Given the description of an element on the screen output the (x, y) to click on. 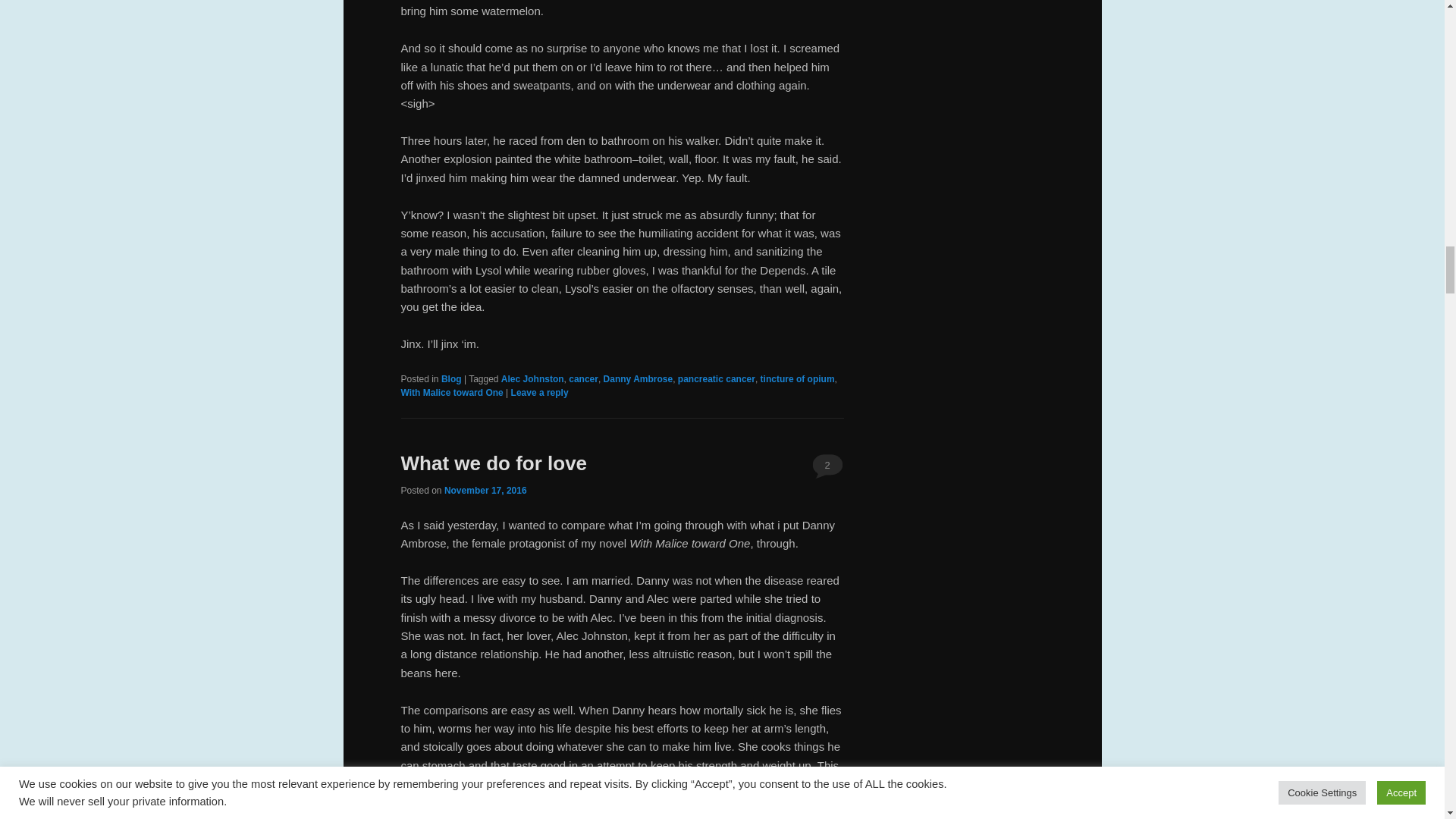
2:02 pm (485, 490)
